Given the description of an element on the screen output the (x, y) to click on. 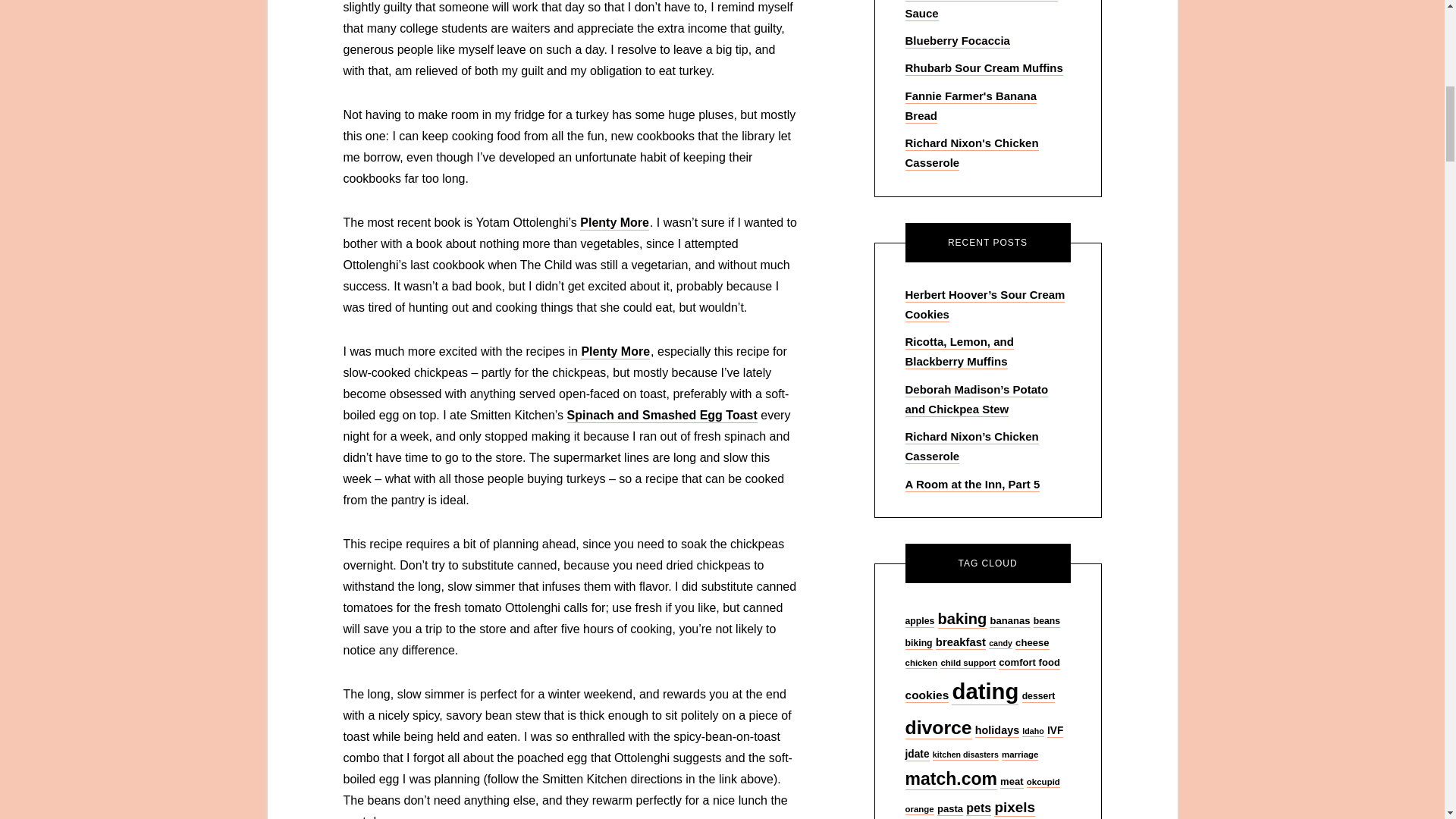
Plenty More (614, 350)
Spinach and Smashed Egg Toast (662, 414)
Plenty More (614, 222)
